Given the description of an element on the screen output the (x, y) to click on. 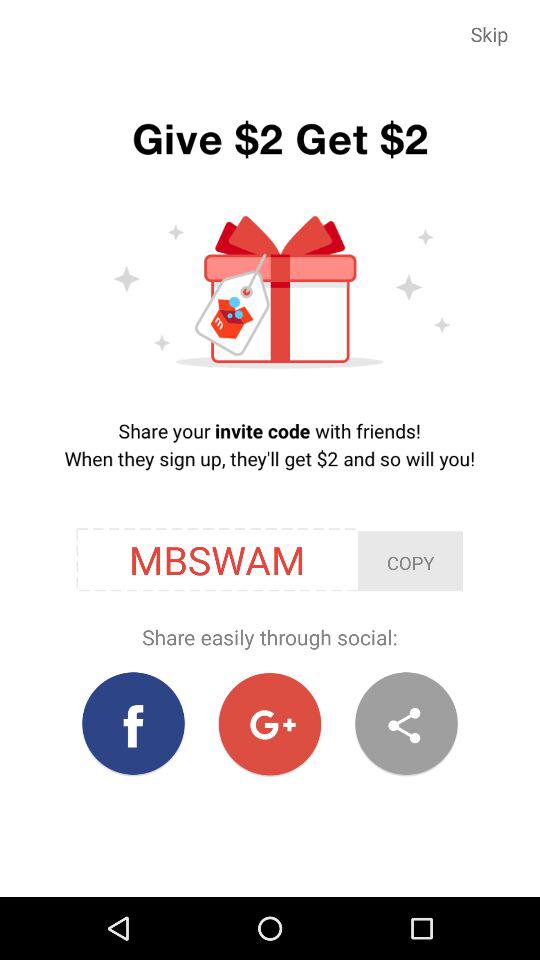
turn off copy item (410, 561)
